Given the description of an element on the screen output the (x, y) to click on. 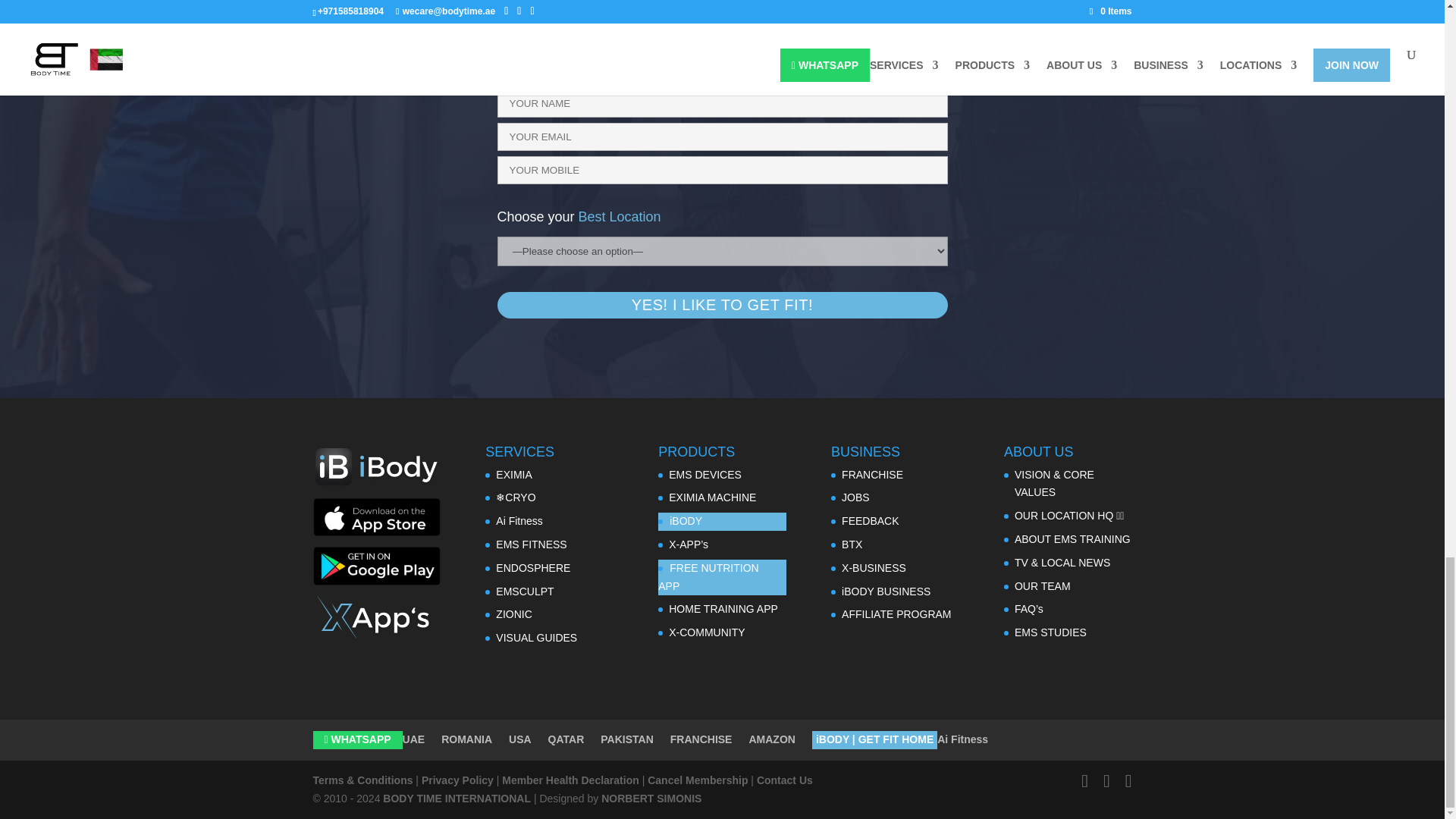
YES! I LIKE TO GET FIT! (722, 304)
